Given the description of an element on the screen output the (x, y) to click on. 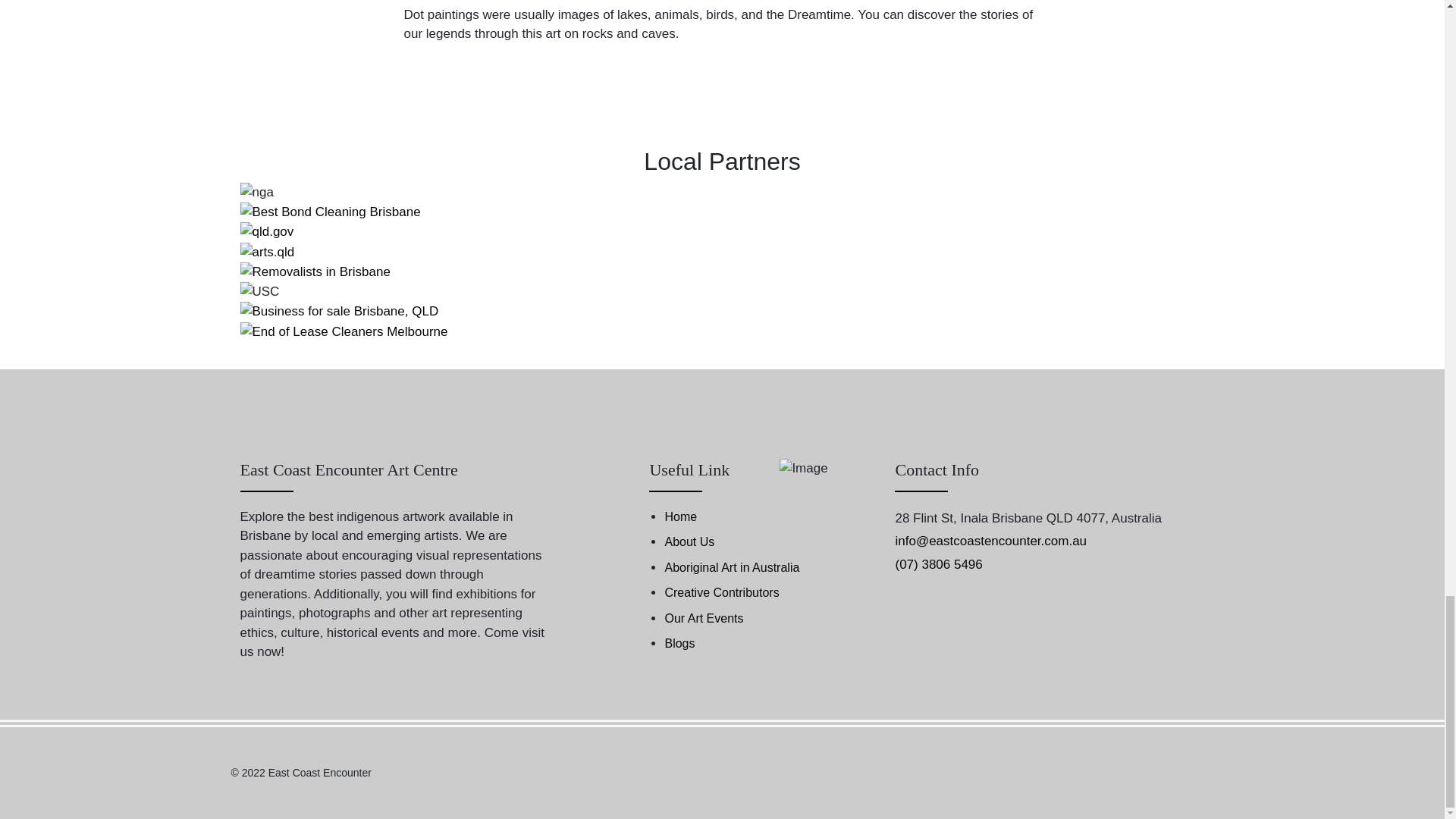
qld.gov (267, 231)
End of Lease Cleaners Melbourne (343, 332)
nga (256, 192)
Aboriginal Art in Australia (731, 567)
Our Art Events (702, 618)
Home (680, 516)
Business for sale Brisbane, QLD (339, 311)
Blogs (678, 643)
USC (259, 291)
Removalists in Brisbane (315, 271)
Creative Contributors (720, 592)
arts.qld (267, 252)
About Us (688, 542)
Best Bond Cleaning Brisbane (330, 211)
